Given the description of an element on the screen output the (x, y) to click on. 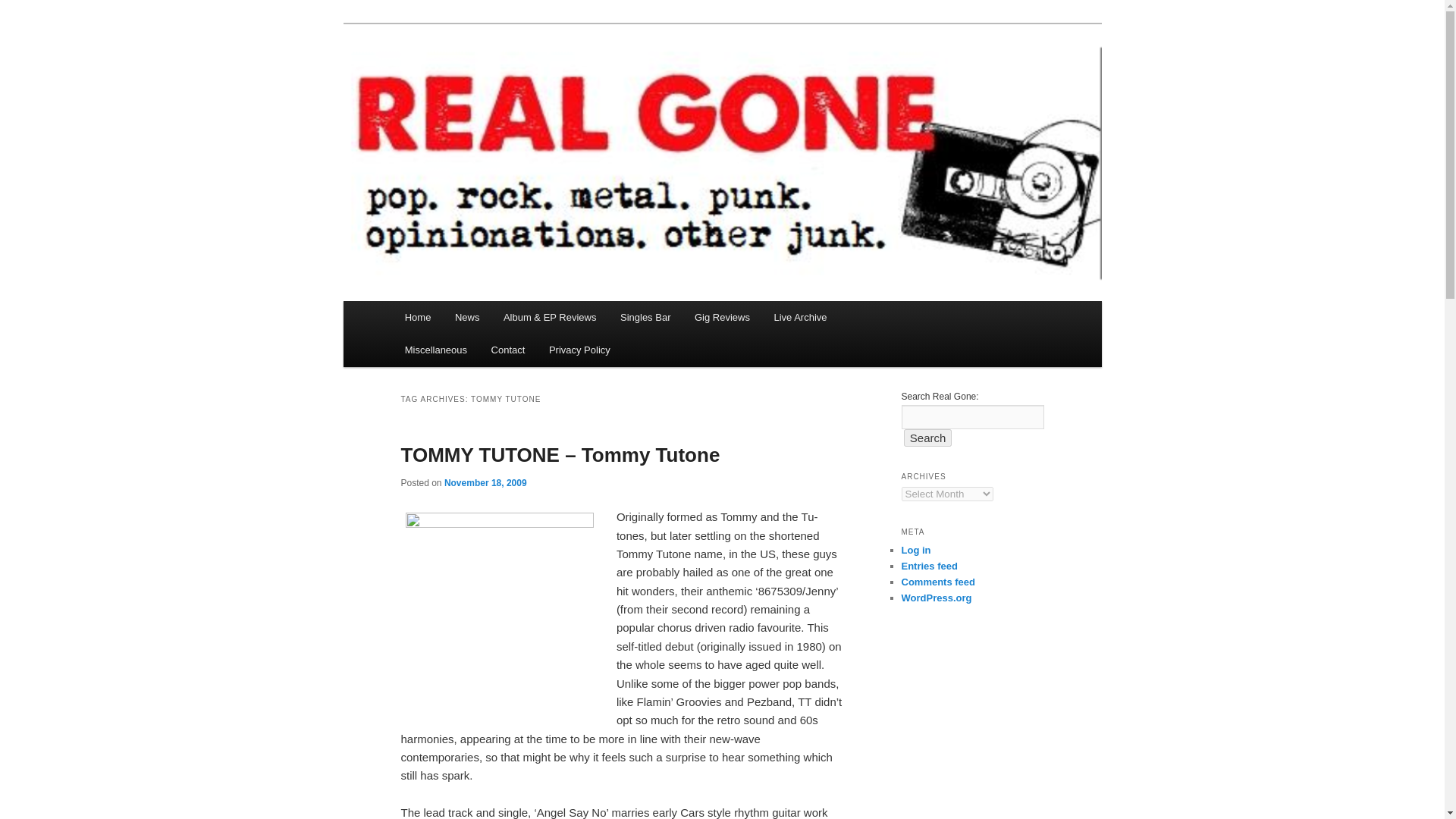
Comments feed (938, 582)
Singles Bar (645, 317)
Contact (508, 349)
November 18, 2009 (485, 482)
Search (928, 437)
Privacy Policy (579, 349)
Real Gone (456, 78)
Gig Reviews (721, 317)
Log in (915, 550)
News (467, 317)
Miscellaneous (436, 349)
Search (928, 437)
Entries feed (928, 565)
Home (417, 317)
